Given the description of an element on the screen output the (x, y) to click on. 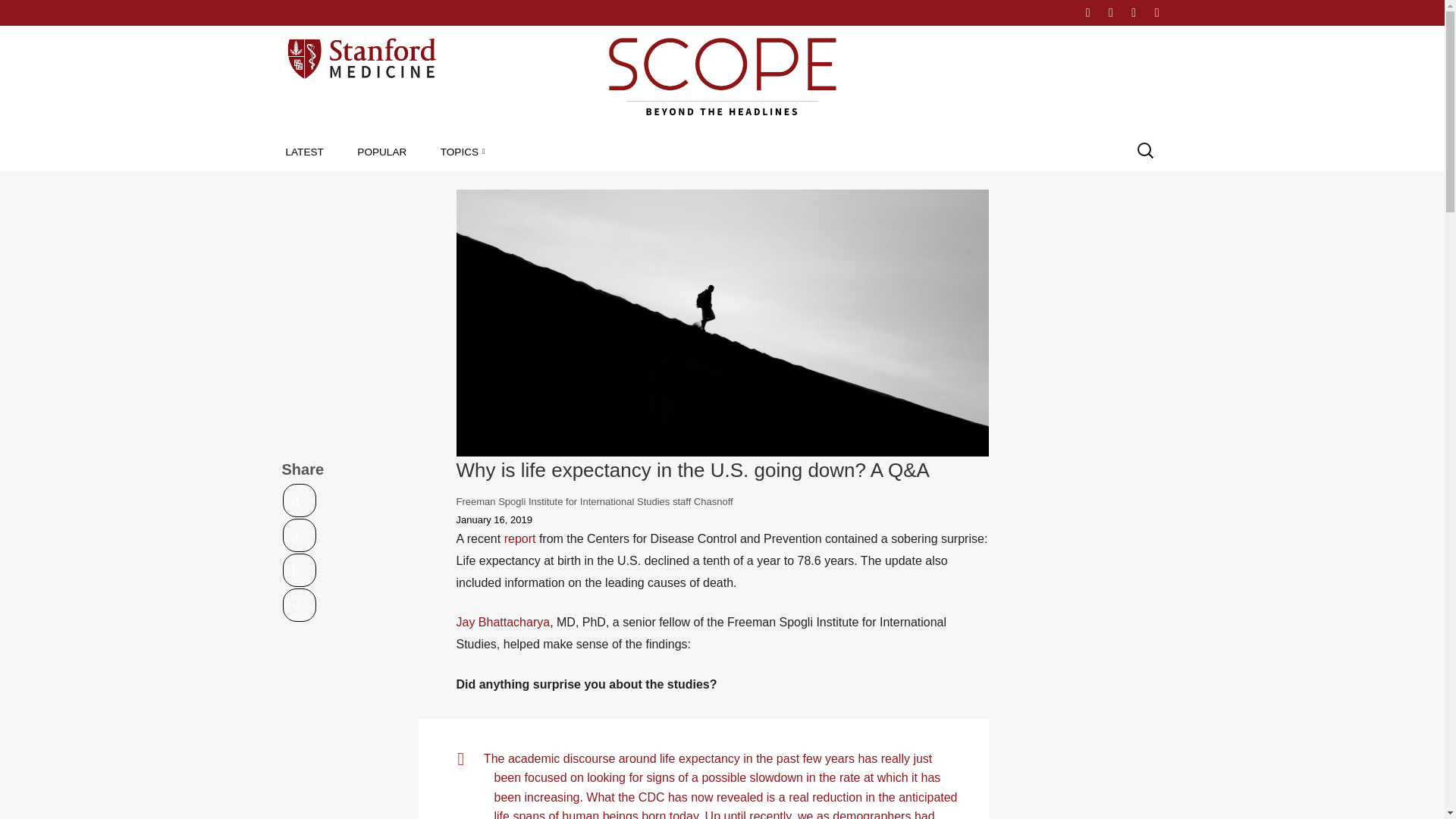
TOPICS (462, 152)
report (519, 538)
Search (26, 12)
ABOUT (1043, 12)
LATEST (304, 152)
Jay Bhattacharya (503, 621)
Opens in a new window (299, 534)
Share on Facebook (299, 534)
MEDICAL RESEARCH (527, 186)
